Given the description of an element on the screen output the (x, y) to click on. 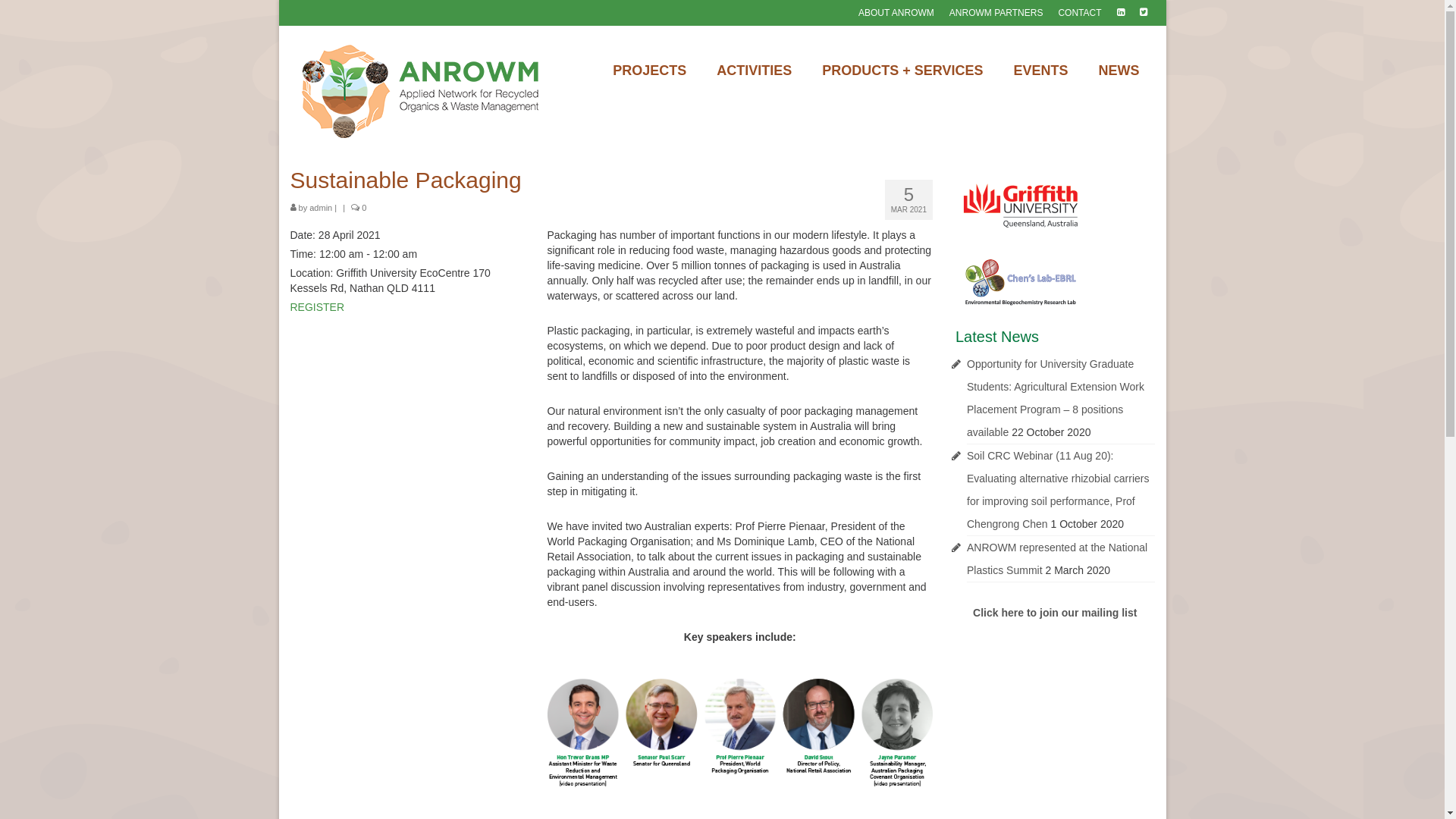
admin Element type: text (320, 207)
REGISTER Element type: text (316, 307)
ABOUT ANROWM Element type: text (895, 12)
PRODUCTS + SERVICES Element type: text (901, 70)
PROJECTS Element type: text (649, 70)
CONTACT Element type: text (1079, 12)
ACTIVITIES Element type: text (753, 70)
NEWS Element type: text (1118, 70)
Click here to join our mailing list Element type: text (1054, 612)
ANROWM represented at the National Plastics Summit Element type: text (1056, 558)
EVENTS Element type: text (1039, 70)
ANROWM PARTNERS Element type: text (996, 12)
